Given the description of an element on the screen output the (x, y) to click on. 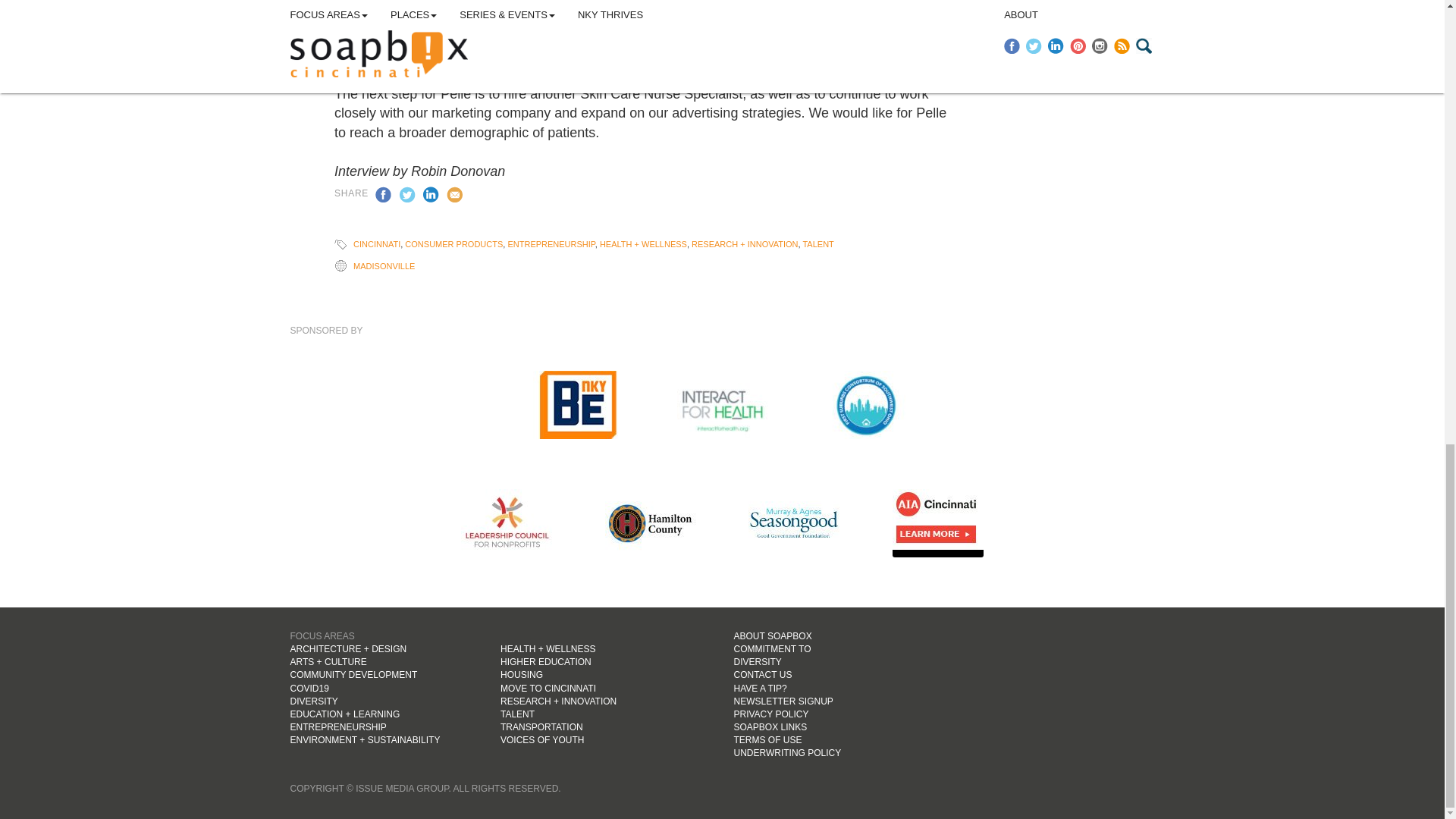
View more stories related to Consumer Products (453, 243)
View more stories related to Entrepreneurship (550, 243)
View more stories related to Madisonville (383, 266)
View more stories related to Cincinnati (376, 243)
View more stories related to Talent (817, 243)
